Given the description of an element on the screen output the (x, y) to click on. 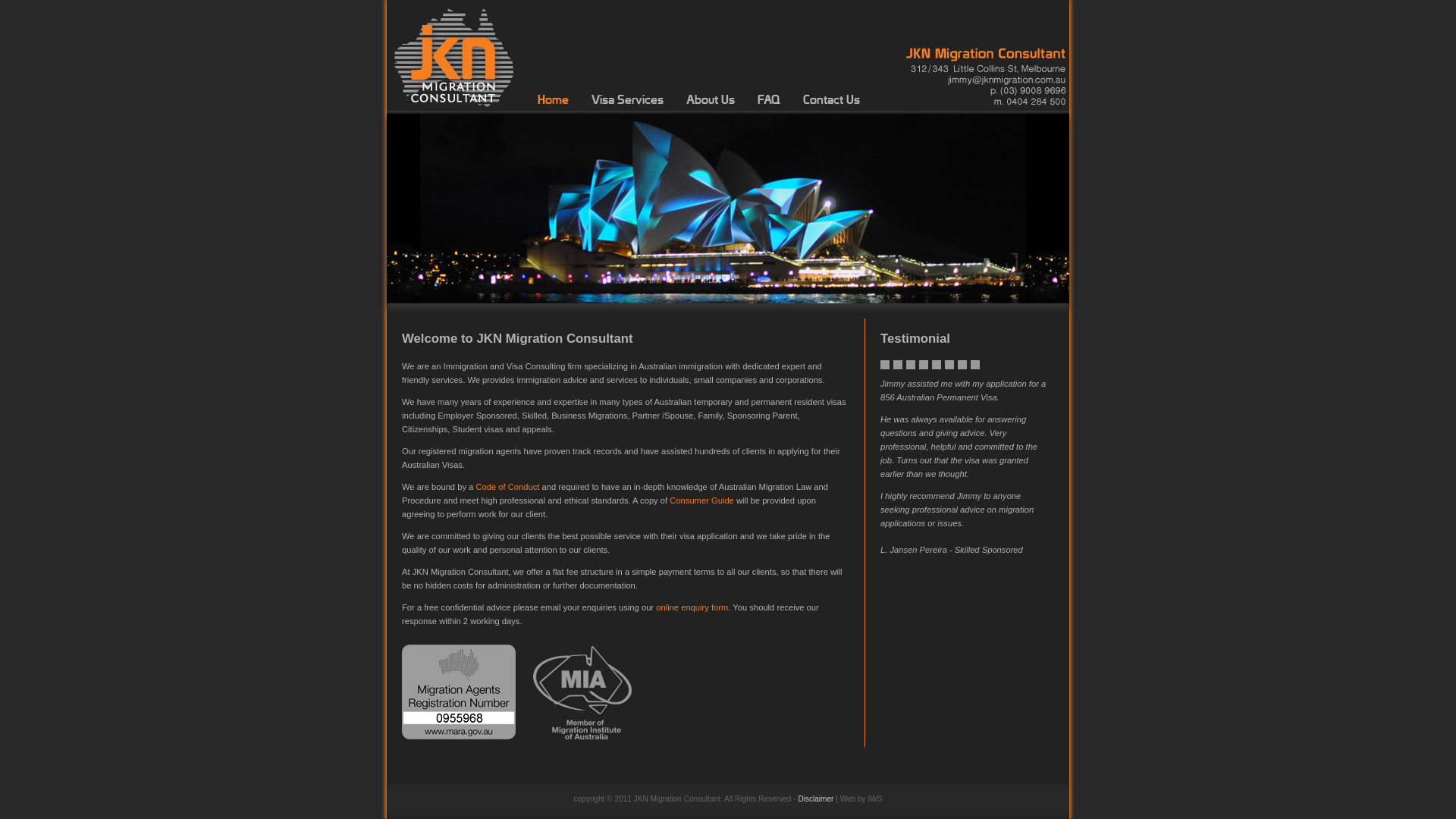
Code of Conduct Element type: text (507, 486)
Visa Services Element type: text (627, 99)
Consumer Guide Element type: text (701, 500)
Home Element type: text (552, 99)
home Element type: hover (452, 104)
About Us Element type: text (710, 99)
Contact Us Element type: text (831, 99)
FAQ Element type: text (768, 99)
Disclaimer Element type: text (815, 798)
Web by IWS Element type: text (861, 798)
online enquiry form Element type: text (691, 606)
